Given the description of an element on the screen output the (x, y) to click on. 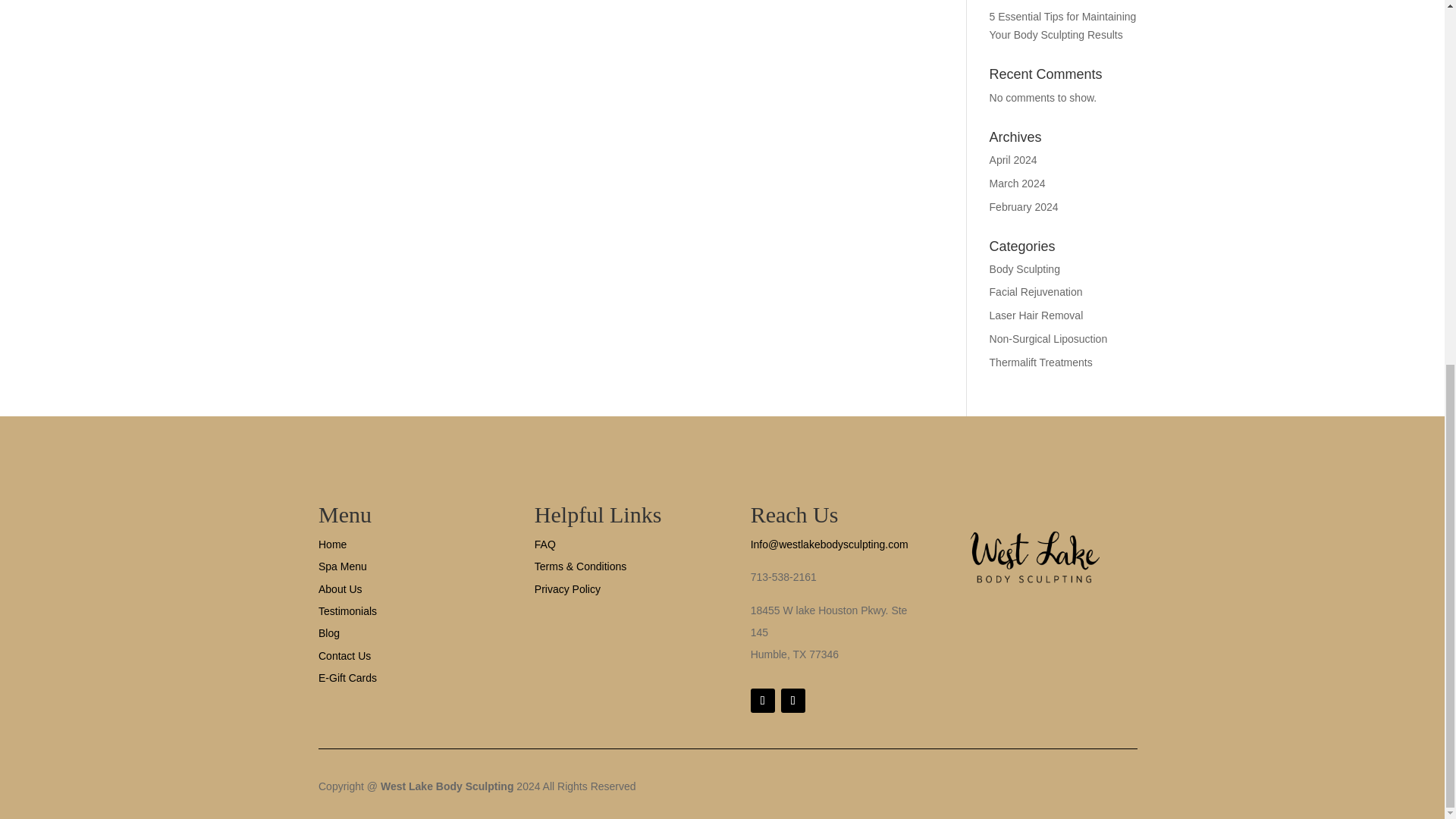
Spa Menu (342, 566)
April 2024 (1013, 159)
Facial Rejuvenation (1036, 291)
Laser Hair Removal (1036, 315)
March 2024 (1017, 183)
About Us (340, 589)
Thermalift Treatments (1041, 362)
Home (332, 544)
Horizontal Logo 250x250 (1034, 557)
Follow on Facebook (762, 700)
Follow on Instagram (792, 700)
Non-Surgical Liposuction (1049, 338)
Body Sculpting (1024, 268)
5 Essential Tips for Maintaining Your Body Sculpting Results (1063, 25)
February 2024 (1024, 206)
